Given the description of an element on the screen output the (x, y) to click on. 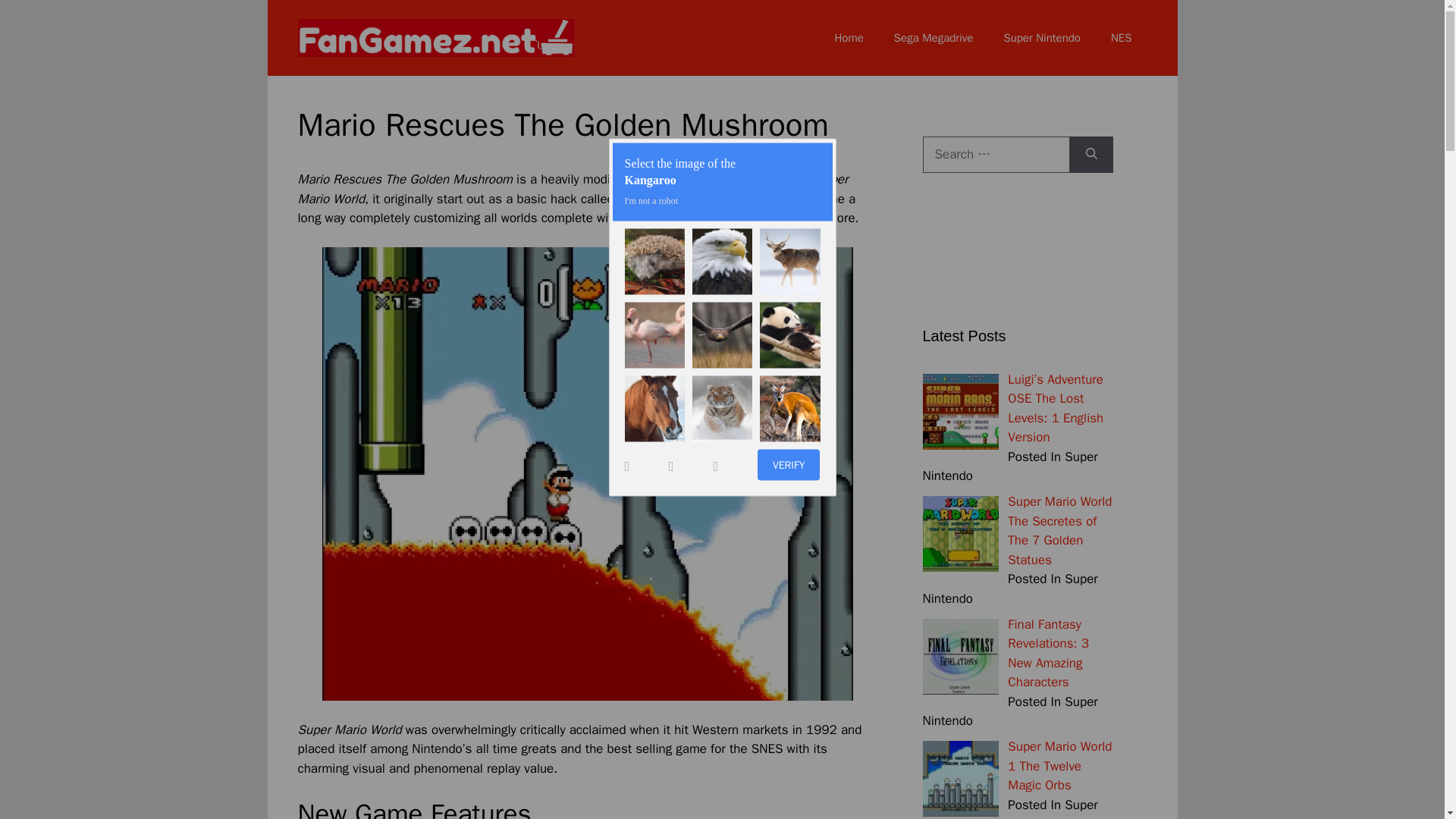
Super Nintendo (1042, 37)
Final Fantasy Revelations: 3 New Amazing Characters (1048, 652)
Search for: (994, 154)
NES (1121, 37)
Super Mario World The Secretes of The 7 Golden Statues (1059, 530)
Super Mario World 1 The Twelve Magic Orbs (1059, 765)
Home (847, 37)
Sega Megadrive (933, 37)
